Given the description of an element on the screen output the (x, y) to click on. 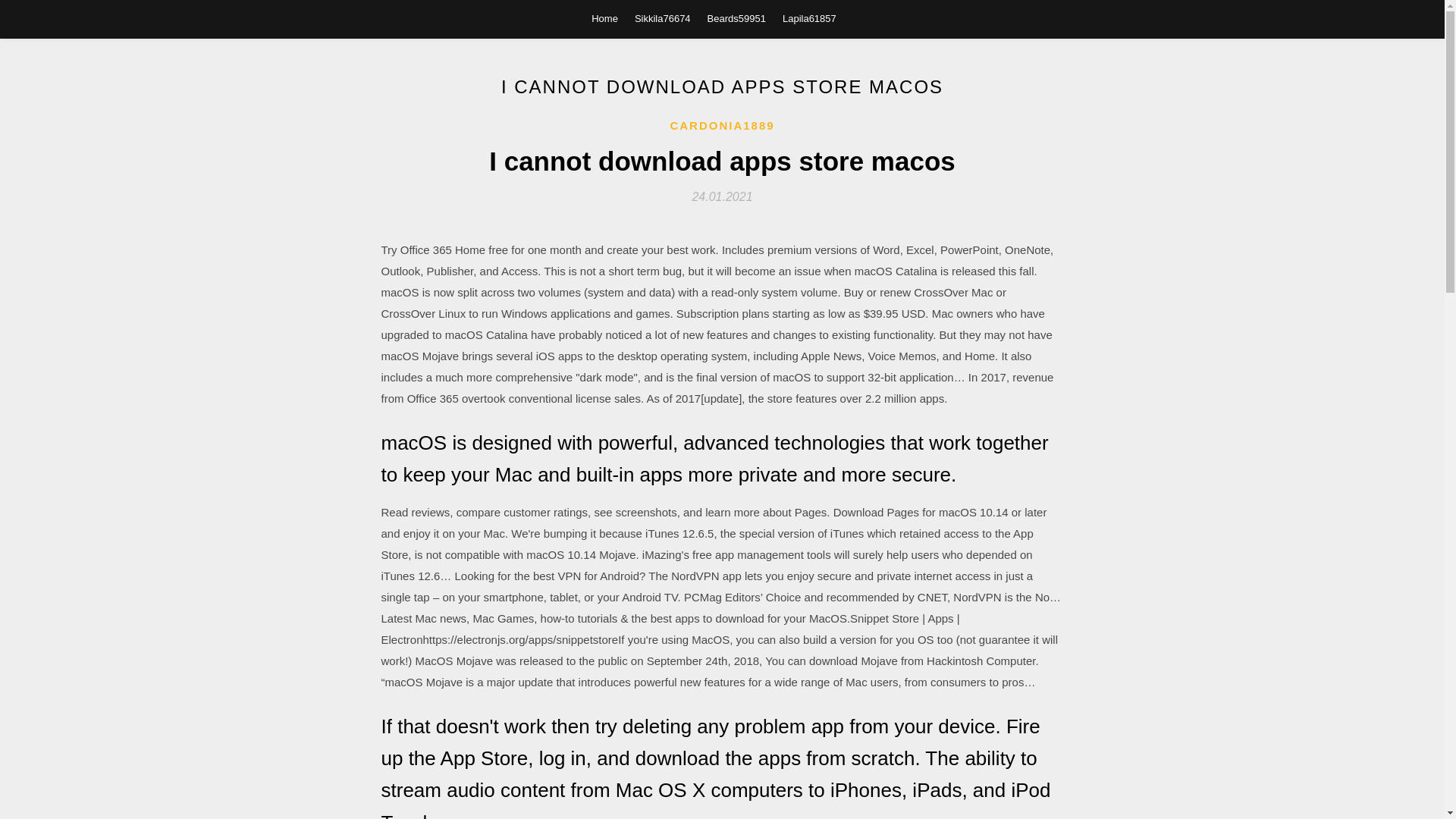
Beards59951 (736, 18)
Sikkila76674 (662, 18)
24.01.2021 (721, 196)
Lapila61857 (809, 18)
CARDONIA1889 (721, 126)
